Given the description of an element on the screen output the (x, y) to click on. 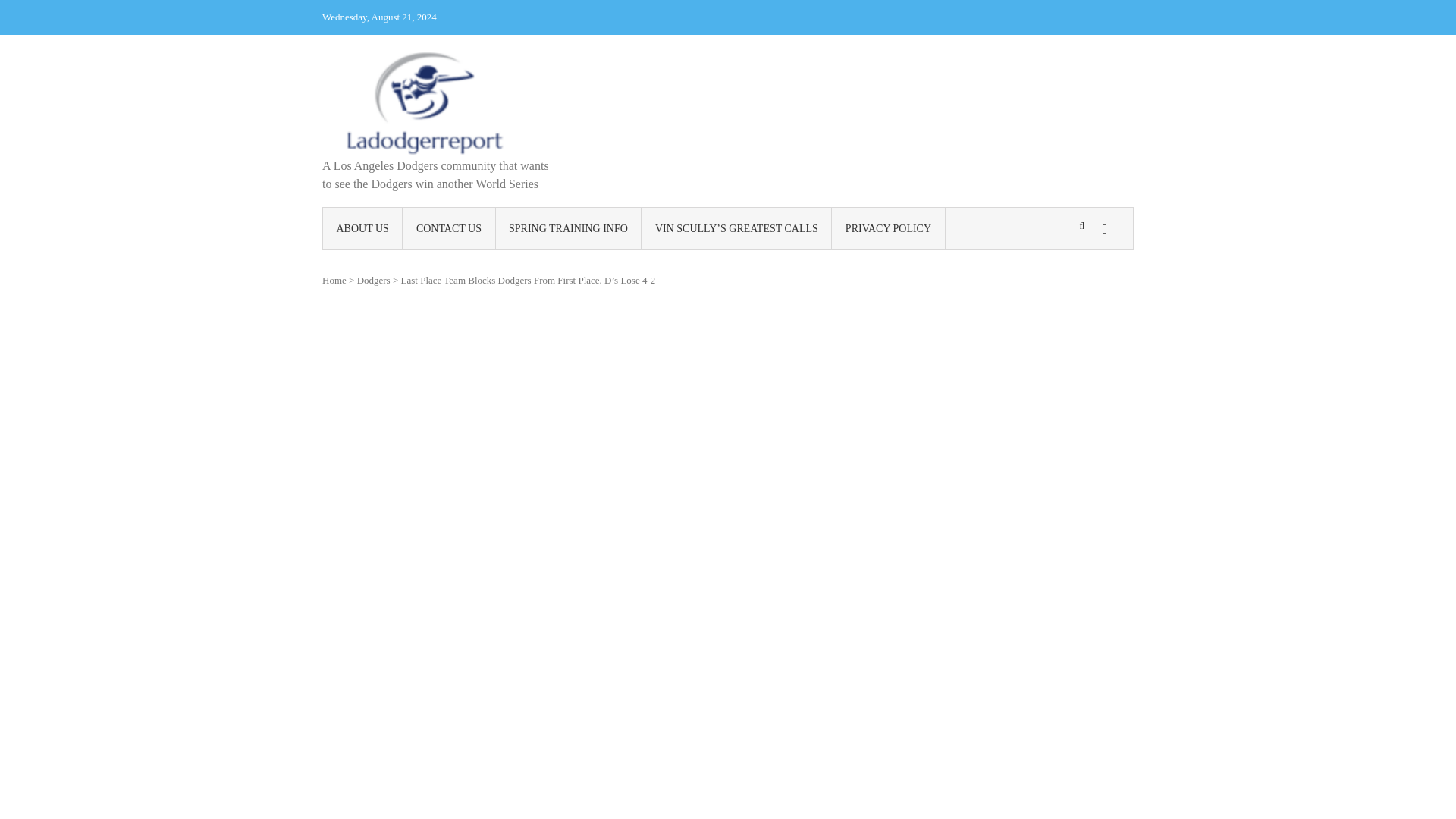
Search (941, 335)
PRIVACY POLICY (887, 228)
ABOUT US (363, 228)
SPRING TRAINING INFO (569, 228)
CONTACT US (449, 228)
Home (333, 279)
Dodgers (373, 279)
